Given the description of an element on the screen output the (x, y) to click on. 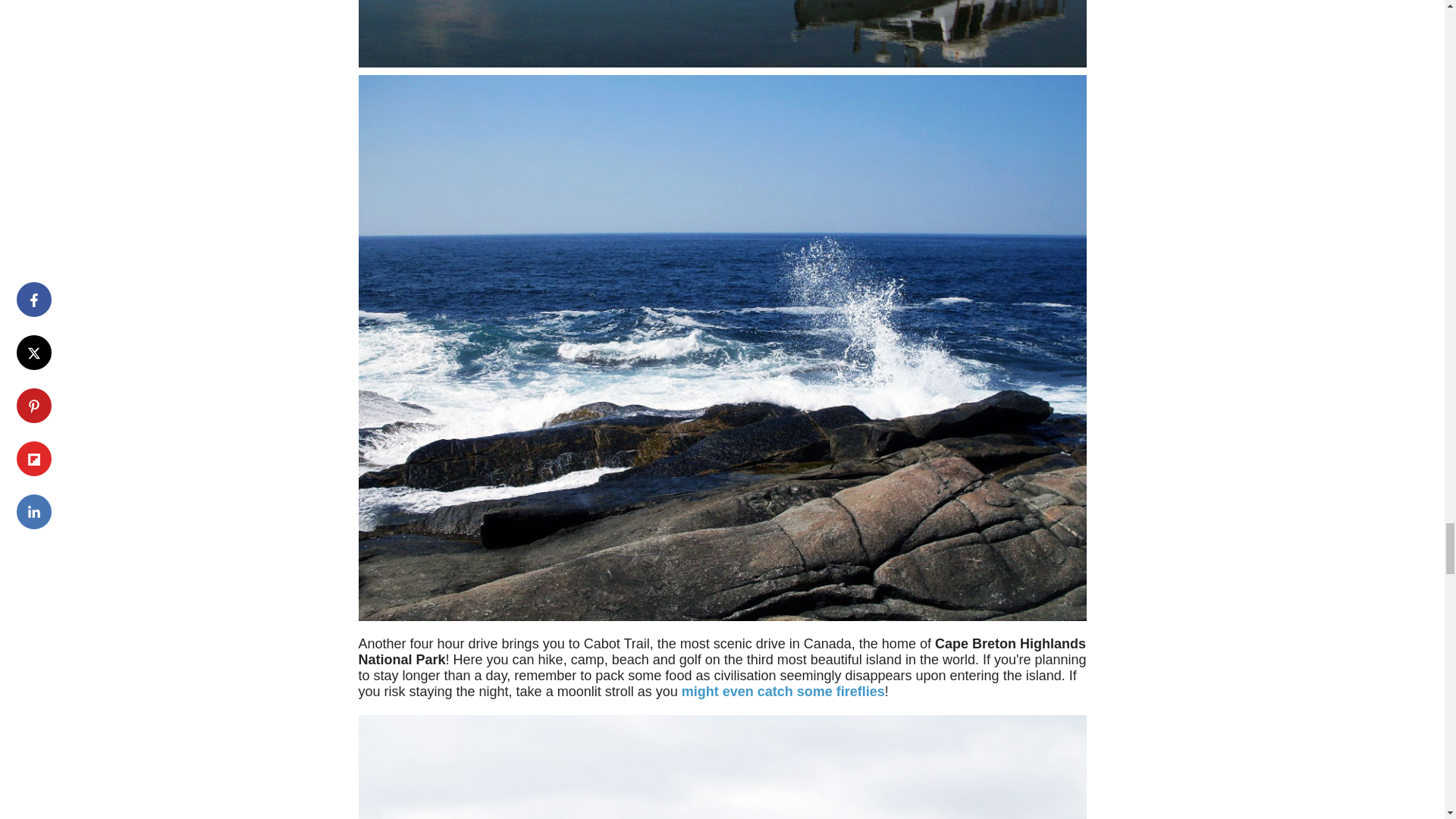
might even catch some fireflies (783, 691)
